Given the description of an element on the screen output the (x, y) to click on. 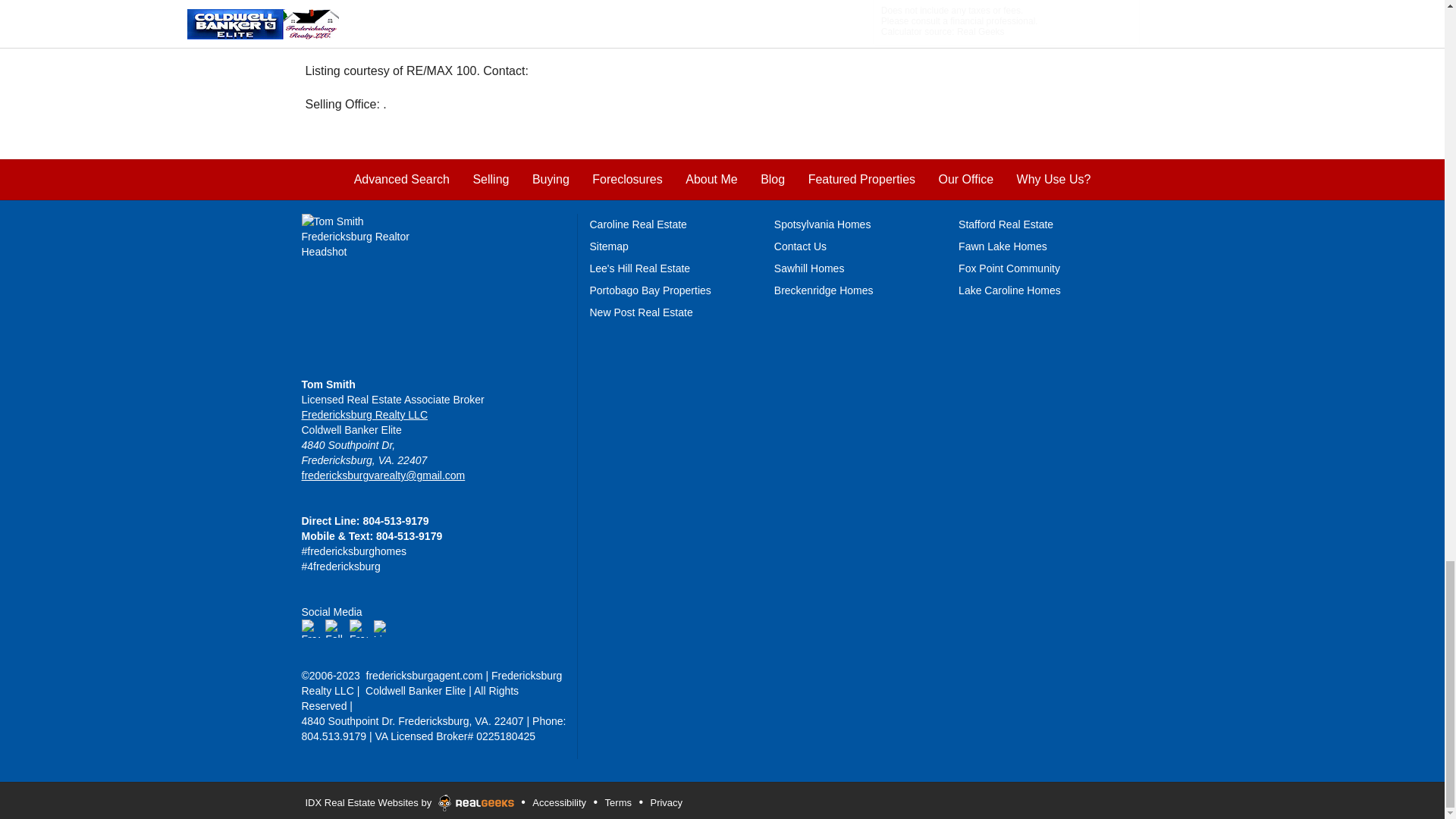
Follow Fredericksburg Real Estate on Twitter (333, 627)
Like Us at Fredericksburg Real Estate on Facebook (310, 627)
Follow Fredericksburg Real Estate on Pinterest (358, 627)
Tom Smith - Century 21 Adventure Redwood (364, 414)
Fredericksburg Realty LLC on Linked In (381, 627)
